Given the description of an element on the screen output the (x, y) to click on. 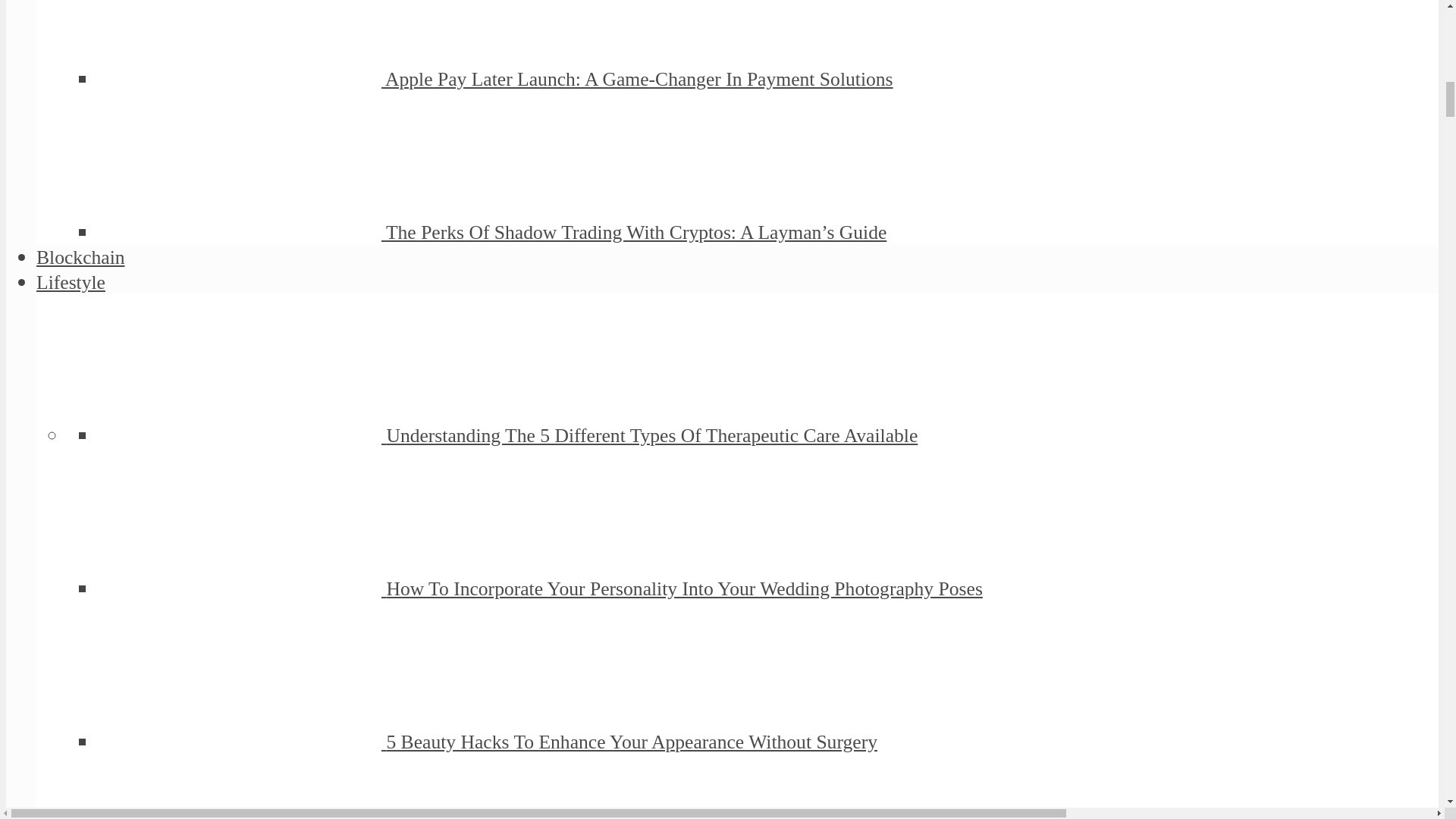
Apple Pay Later Launch: A Game-Changer In Payment Solutions (639, 78)
Lifestyle (70, 282)
Blockchain (80, 257)
5 Beauty Hacks To Enhance Your Appearance Without Surgery (631, 741)
